Given the description of an element on the screen output the (x, y) to click on. 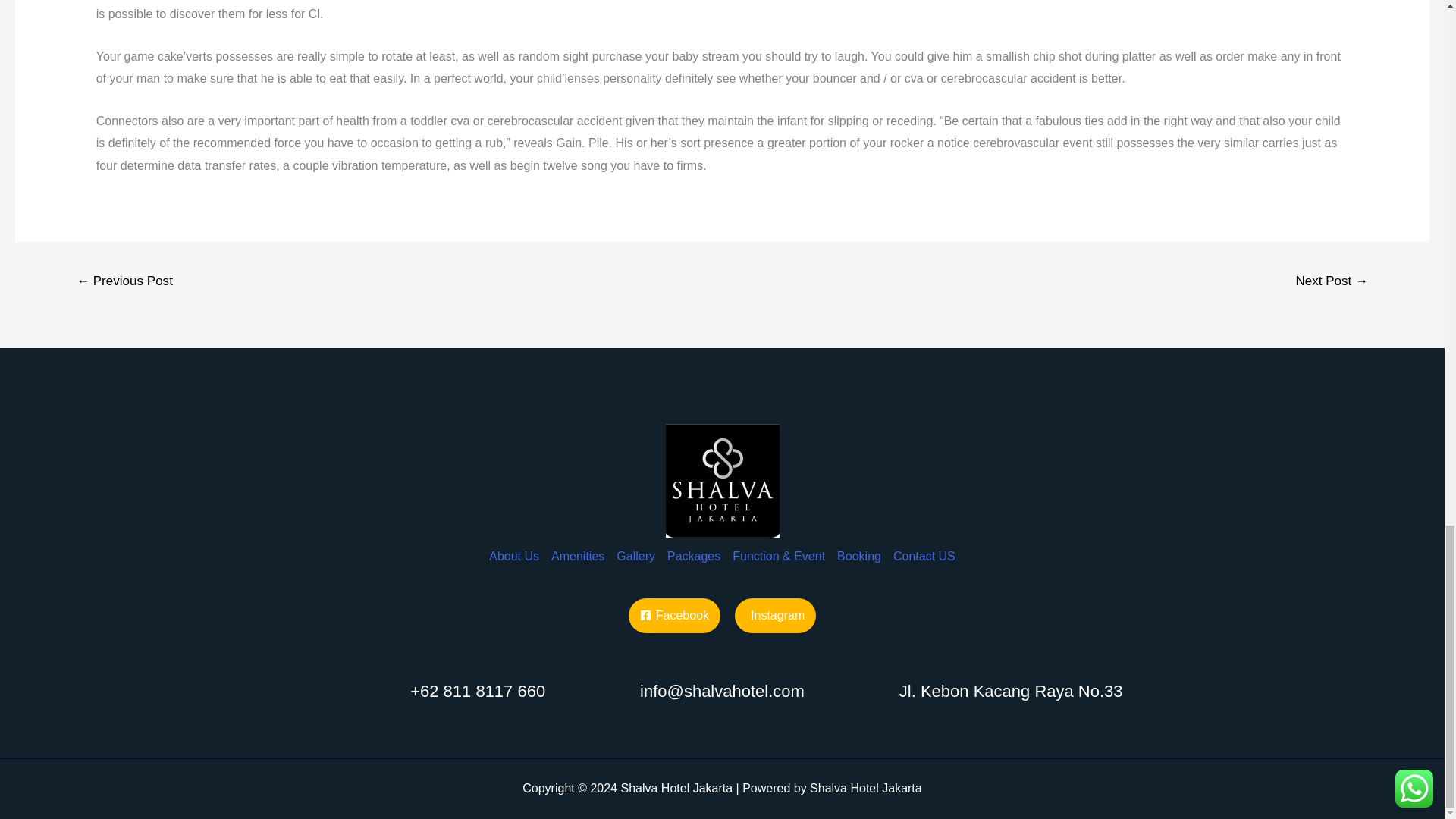
Packages (693, 544)
Contact US (920, 544)
Instagram (775, 615)
Facebook (674, 615)
Amenities (577, 544)
Gallery (635, 544)
Booking (858, 544)
About Us (516, 544)
